Given the description of an element on the screen output the (x, y) to click on. 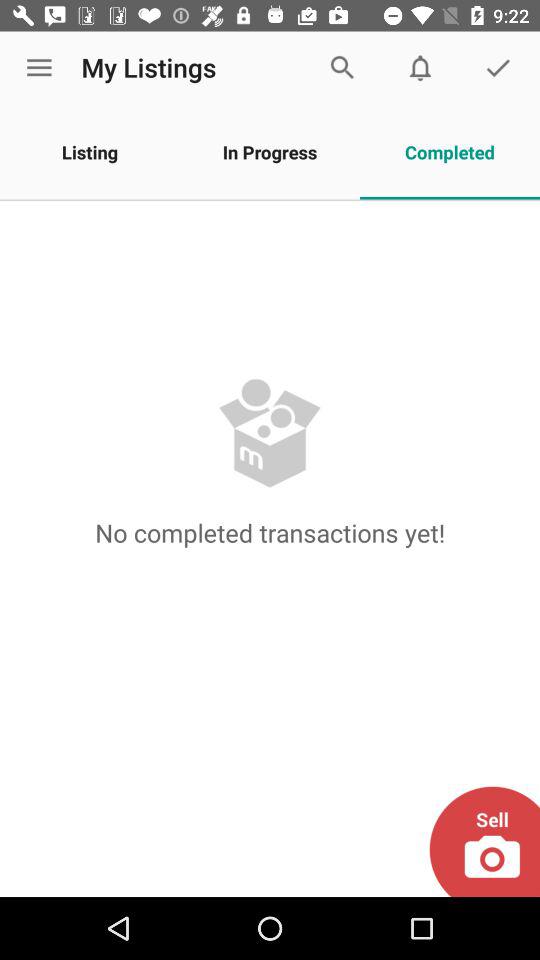
camera option (484, 841)
